Given the description of an element on the screen output the (x, y) to click on. 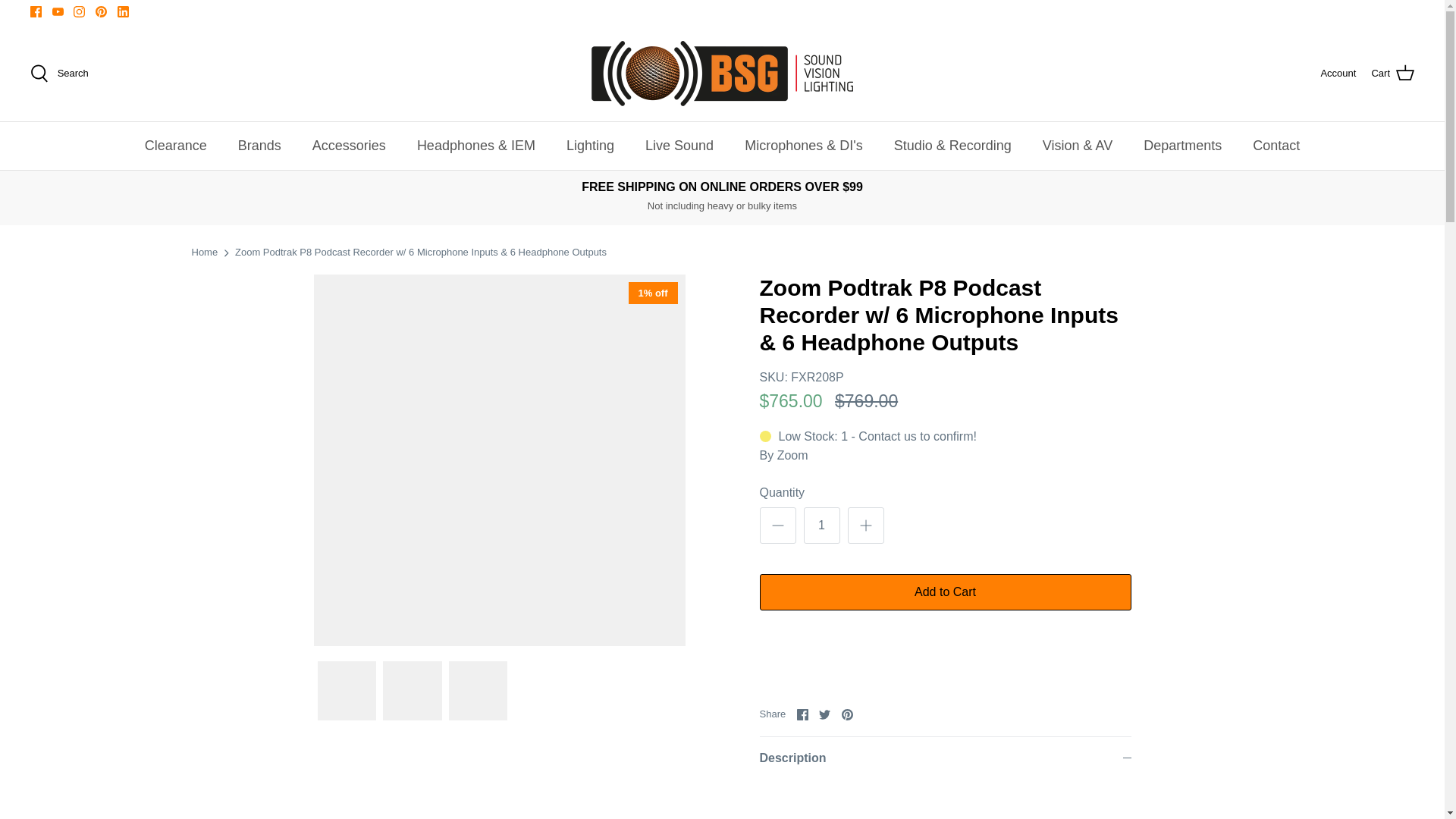
Brands (259, 145)
Youtube (58, 11)
Instagram (79, 11)
Minus (777, 525)
Clearance (176, 145)
Facebook (802, 714)
Twitter (823, 714)
Cart (1392, 73)
Instagram (79, 11)
Search (59, 73)
Pinterest (101, 11)
Pinterest (101, 11)
Facebook (36, 11)
Youtube (58, 11)
Account (1337, 73)
